Given the description of an element on the screen output the (x, y) to click on. 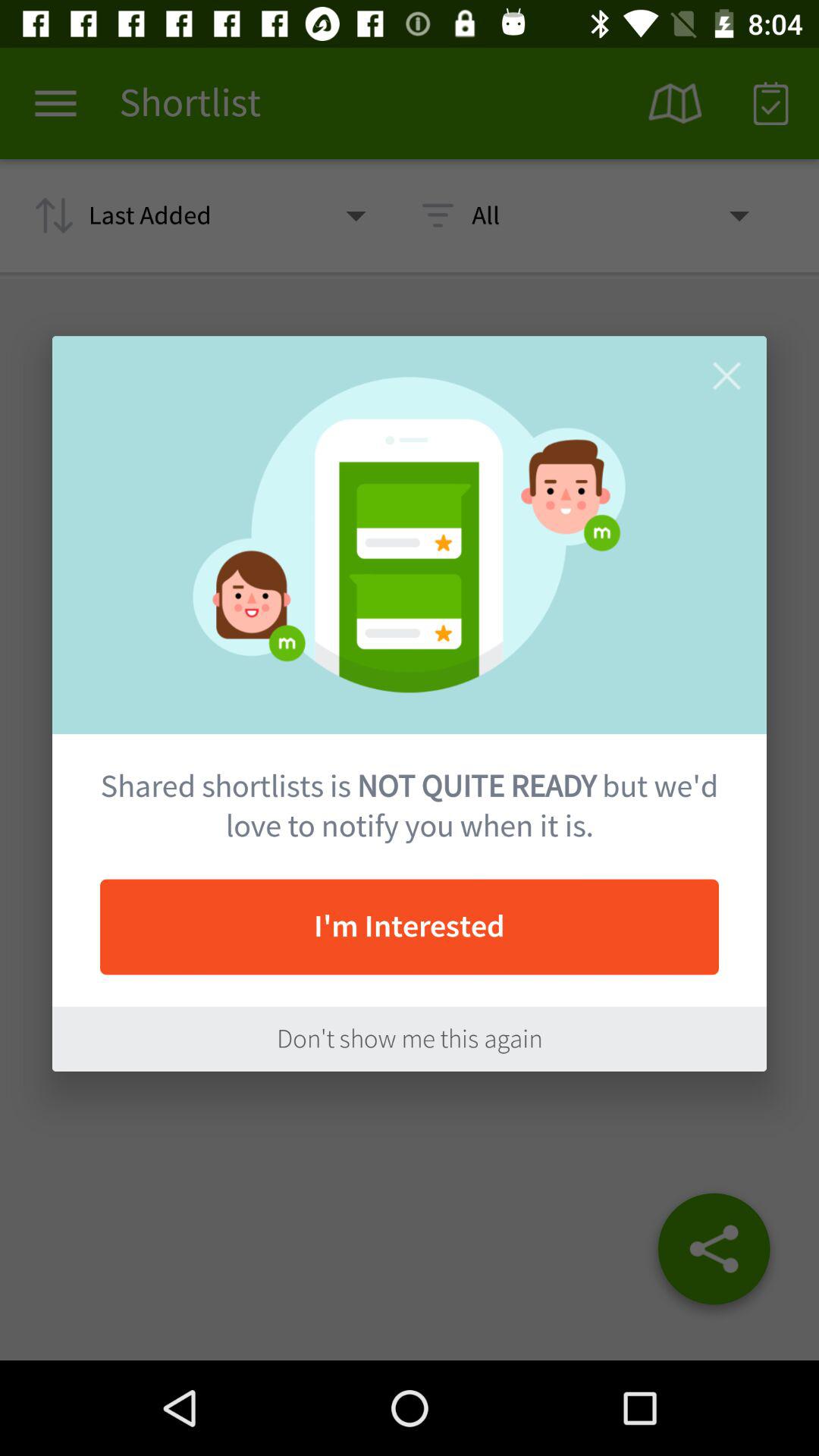
tap the item above don t show (409, 926)
